Given the description of an element on the screen output the (x, y) to click on. 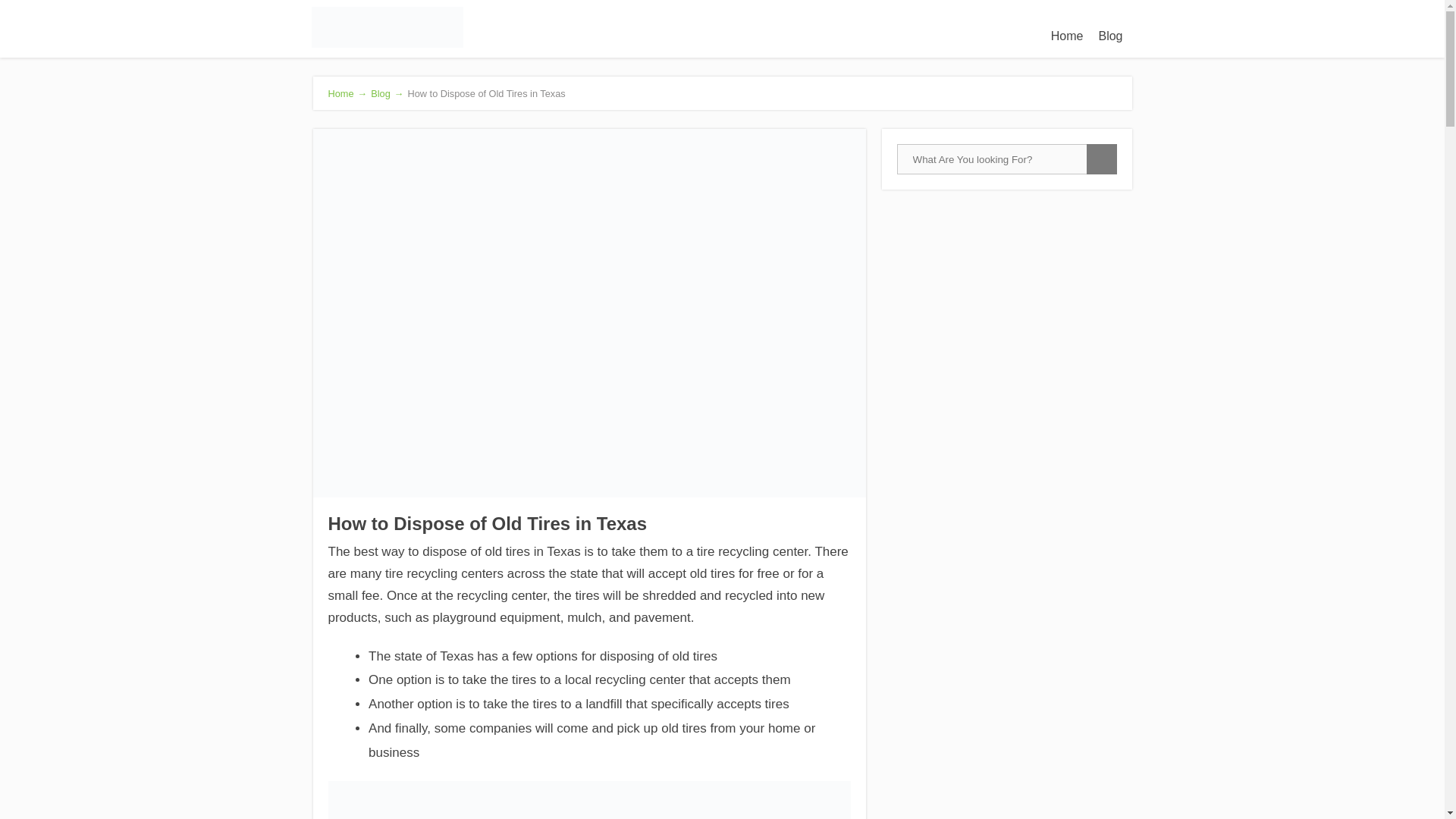
Home (1066, 36)
Blog (1109, 36)
